Given the description of an element on the screen output the (x, y) to click on. 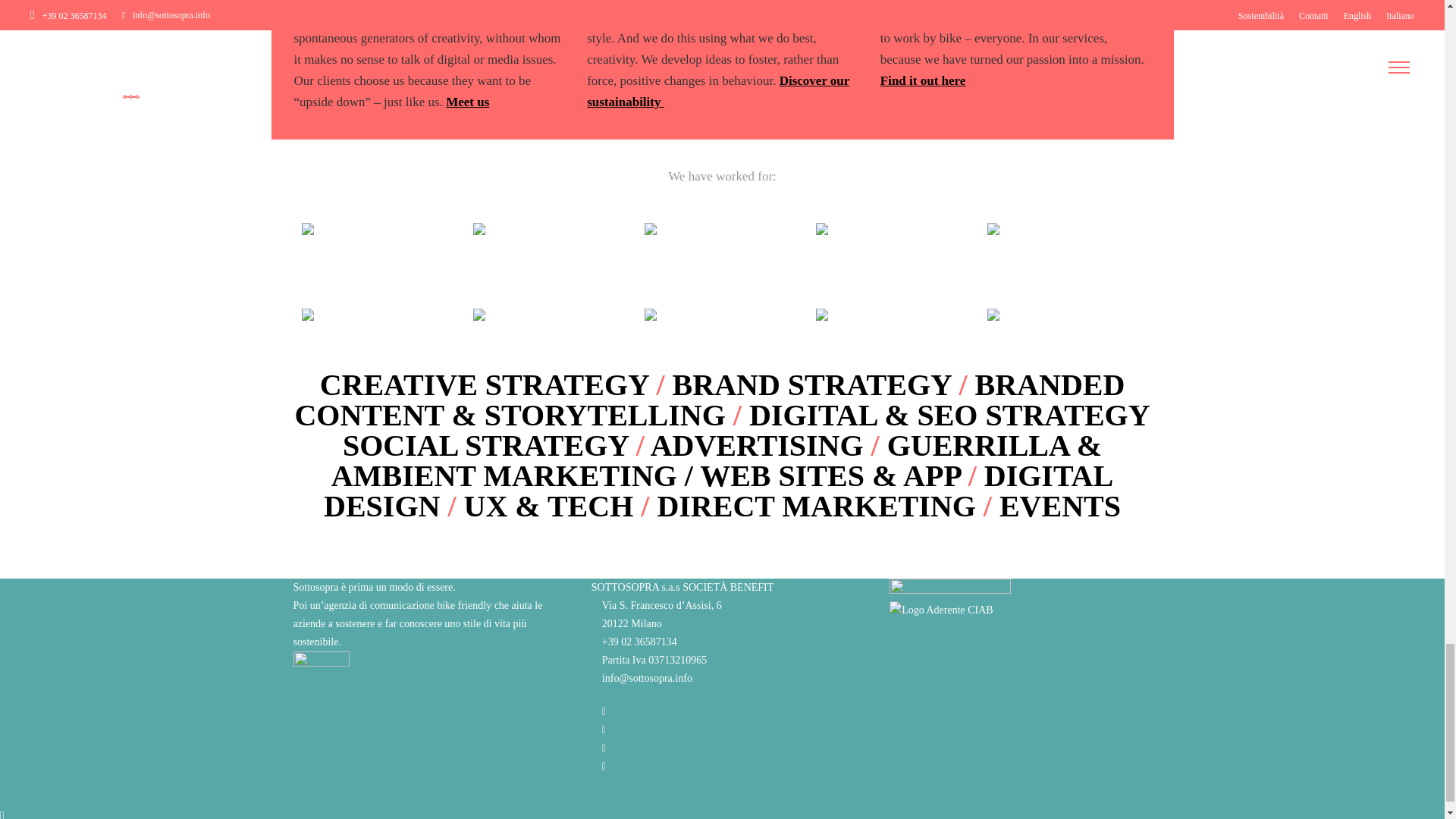
Discover our sustainability  (717, 90)
Meet us (467, 101)
Find it out here (923, 79)
